Given the description of an element on the screen output the (x, y) to click on. 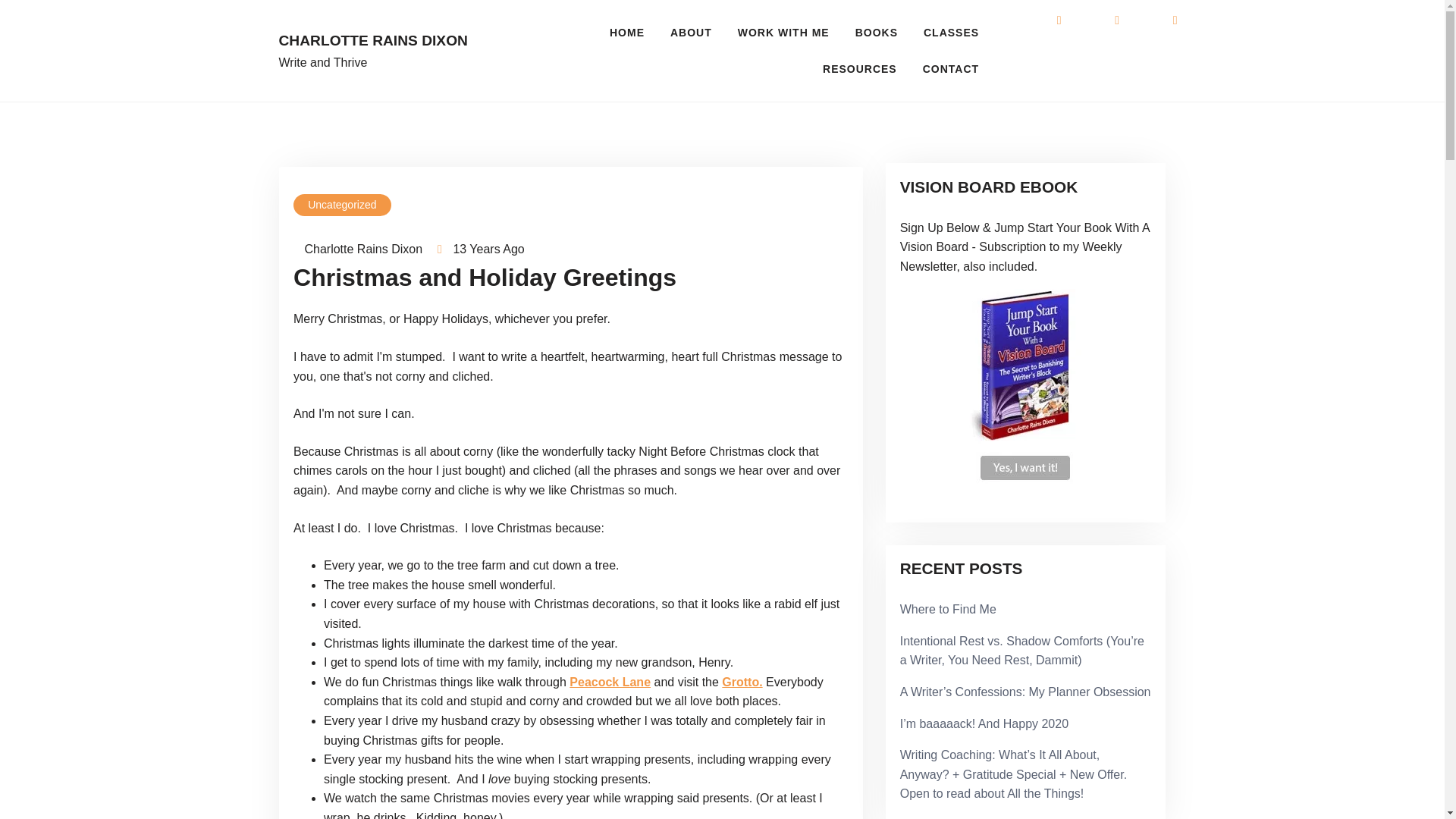
BOOKS (877, 32)
HOME (627, 32)
CHARLOTTE RAINS DIXON (381, 41)
CONTACT (950, 68)
RESOURCES (859, 68)
Peacock Lane (609, 681)
WORK WITH ME (784, 32)
Charlotte Rains Dixon (358, 249)
13 Years Ago (488, 248)
ABOUT (691, 32)
Uncategorized (342, 205)
Grotto. (741, 681)
CLASSES (951, 32)
